Given the description of an element on the screen output the (x, y) to click on. 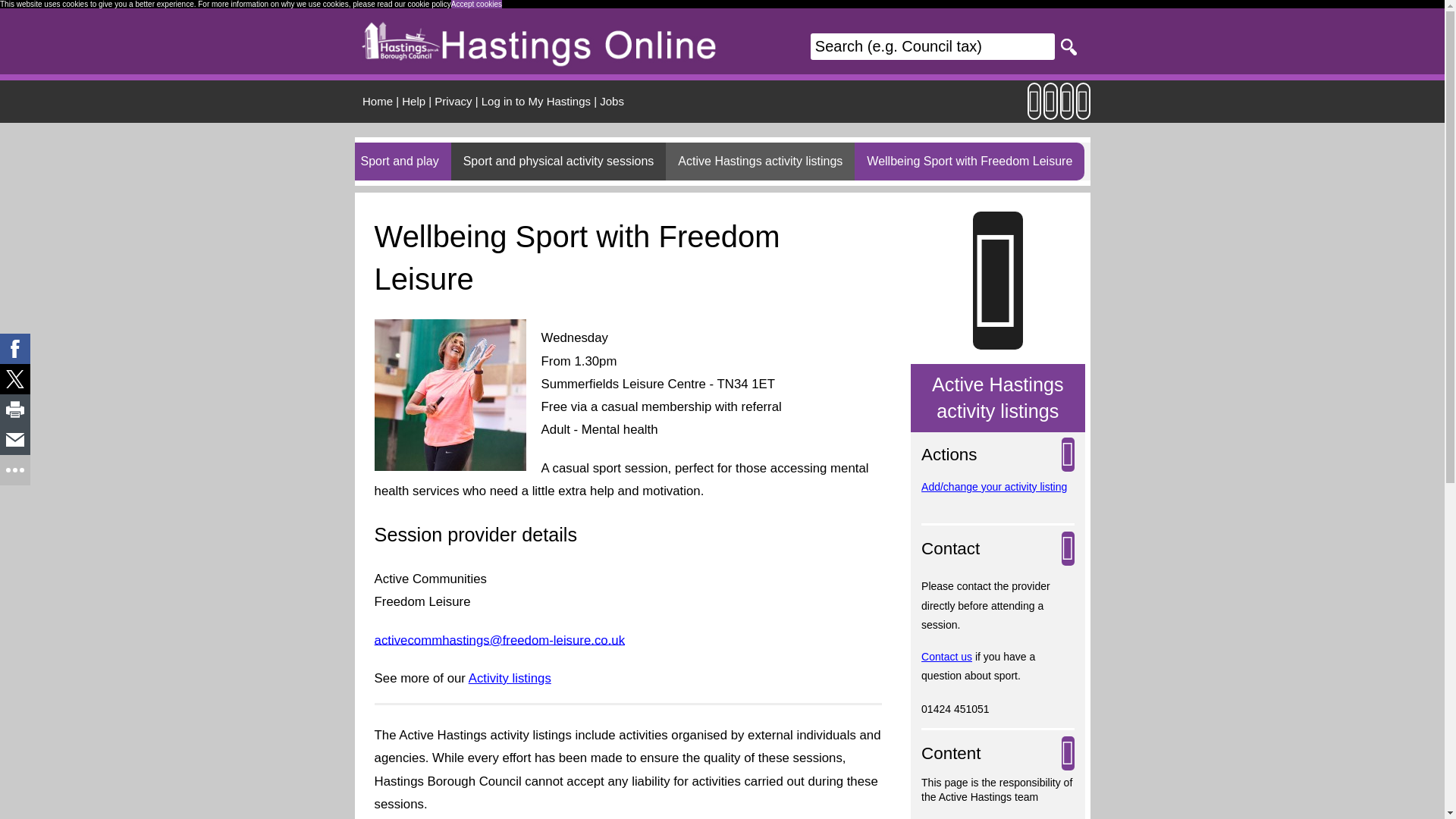
cookie policy (429, 4)
link to Hastings council Instagram (1050, 108)
Contact us (946, 656)
Hastings Online logo (539, 40)
Jobs (611, 100)
Home (377, 100)
Help (413, 100)
Hastings Online home page (377, 100)
Your privacy (452, 100)
link to Hastings council twitter feed (1066, 108)
